Given the description of an element on the screen output the (x, y) to click on. 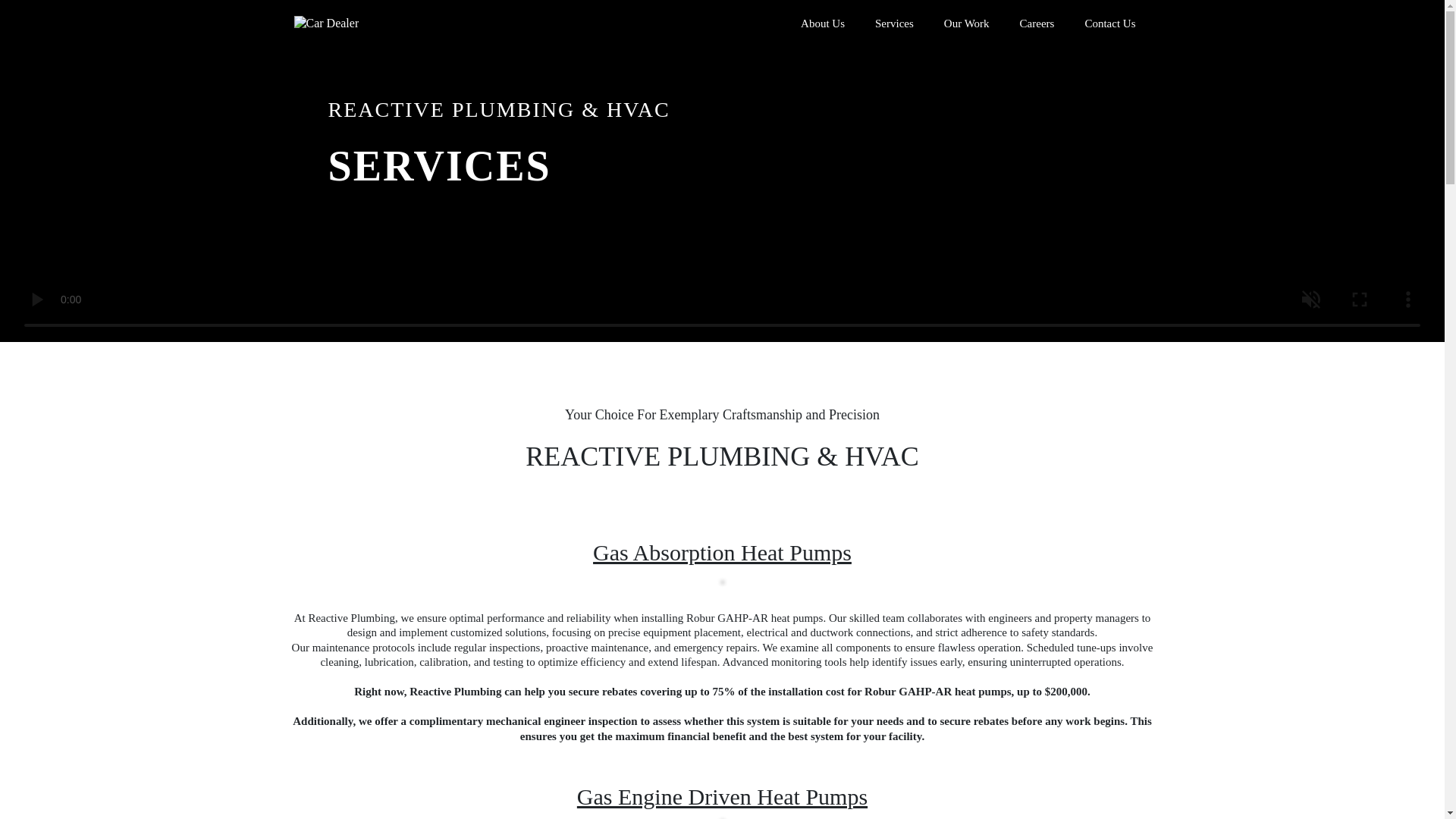
Our Work (966, 24)
Services (894, 24)
Contact Us (1109, 26)
About Us (837, 26)
Home (771, 26)
Portfolio (1033, 26)
About Us (823, 24)
Careers (1037, 24)
Contact Us (1109, 24)
New Car Showroom (936, 26)
